Given the description of an element on the screen output the (x, y) to click on. 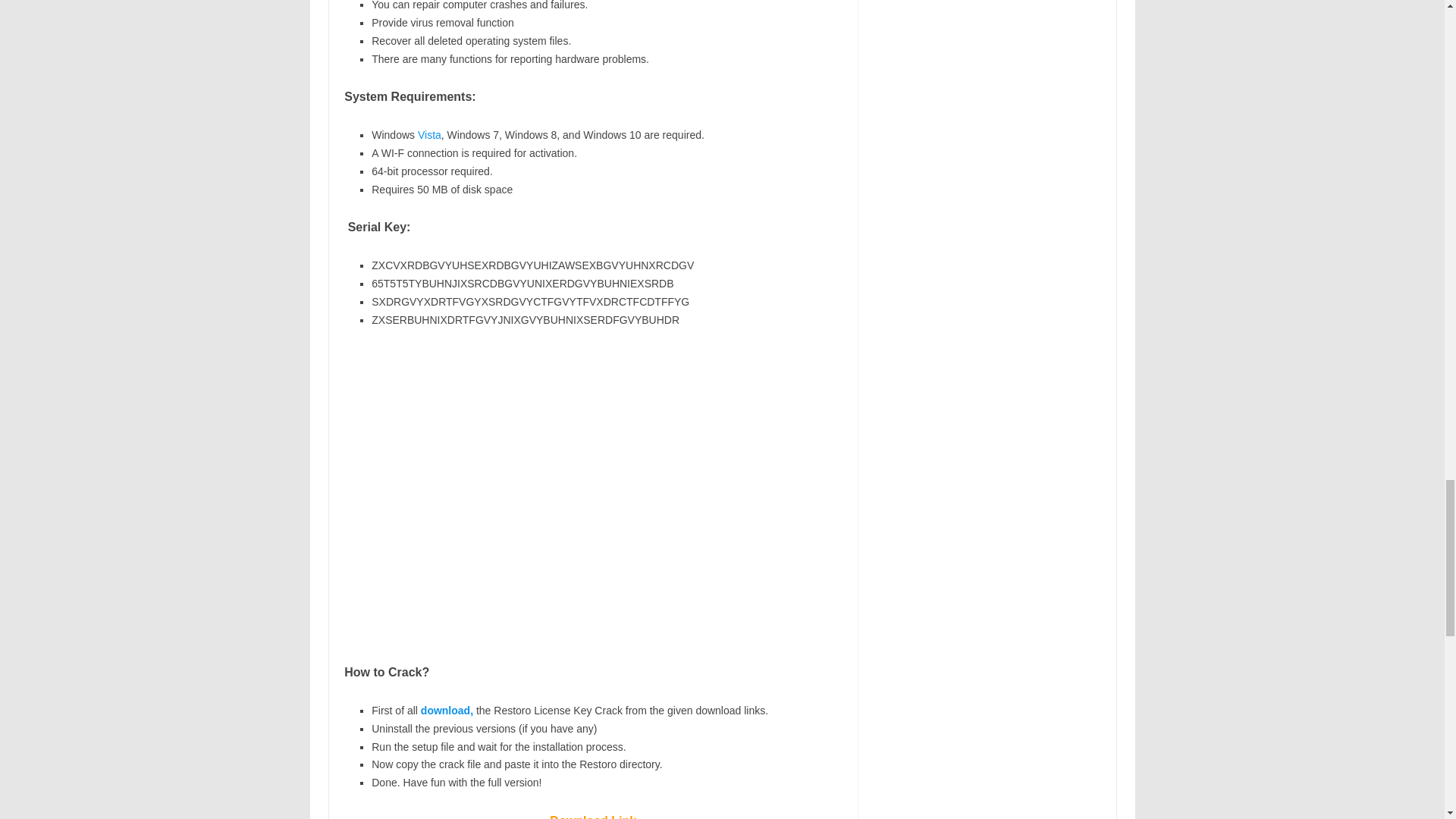
Download Link (593, 816)
download, (446, 710)
Vista (429, 134)
